Given the description of an element on the screen output the (x, y) to click on. 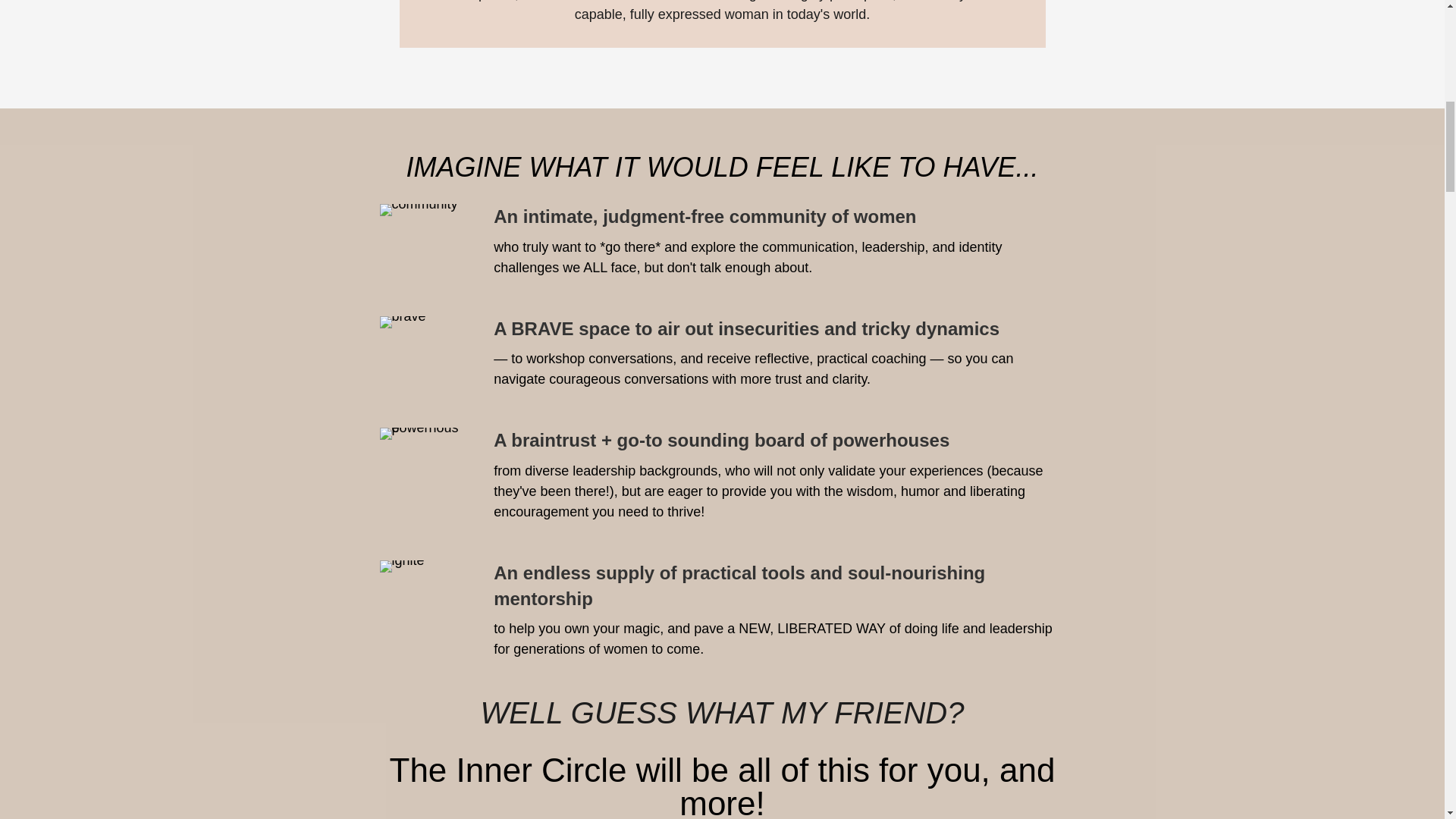
ignite (400, 566)
powerhouse (420, 433)
brave (401, 322)
community (417, 209)
